Given the description of an element on the screen output the (x, y) to click on. 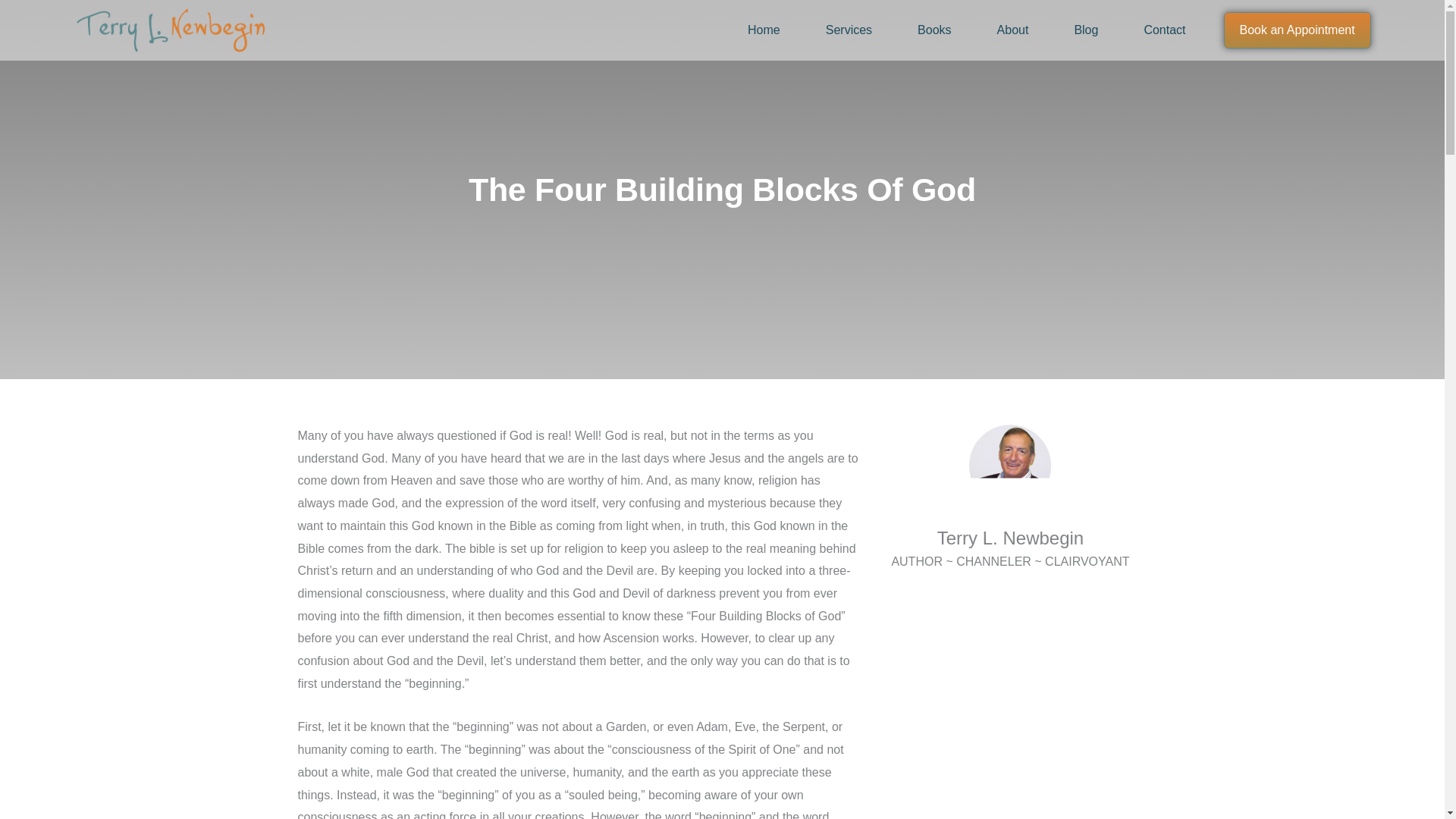
About (1013, 29)
Home (763, 29)
Book an Appointment (1297, 30)
Services (848, 29)
Contact (1163, 29)
Blog (1085, 29)
Books (934, 29)
